Given the description of an element on the screen output the (x, y) to click on. 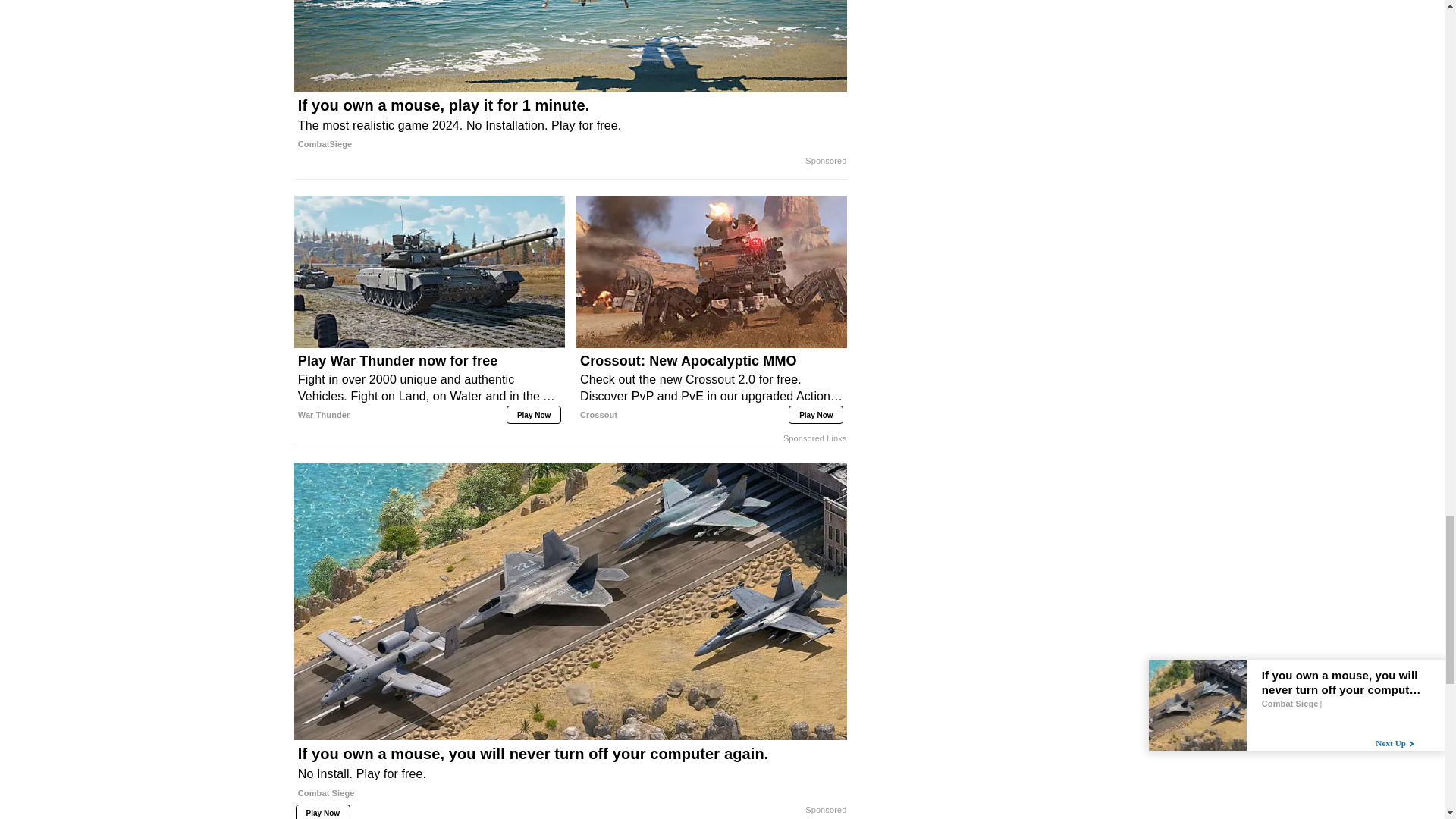
If you own a mouse, play it for 1 minute. (570, 45)
If you own a mouse, play it for 1 minute. (570, 124)
Play Now (816, 414)
Sponsored (825, 161)
Sponsored Links (815, 438)
Play Now (533, 414)
